Given the description of an element on the screen output the (x, y) to click on. 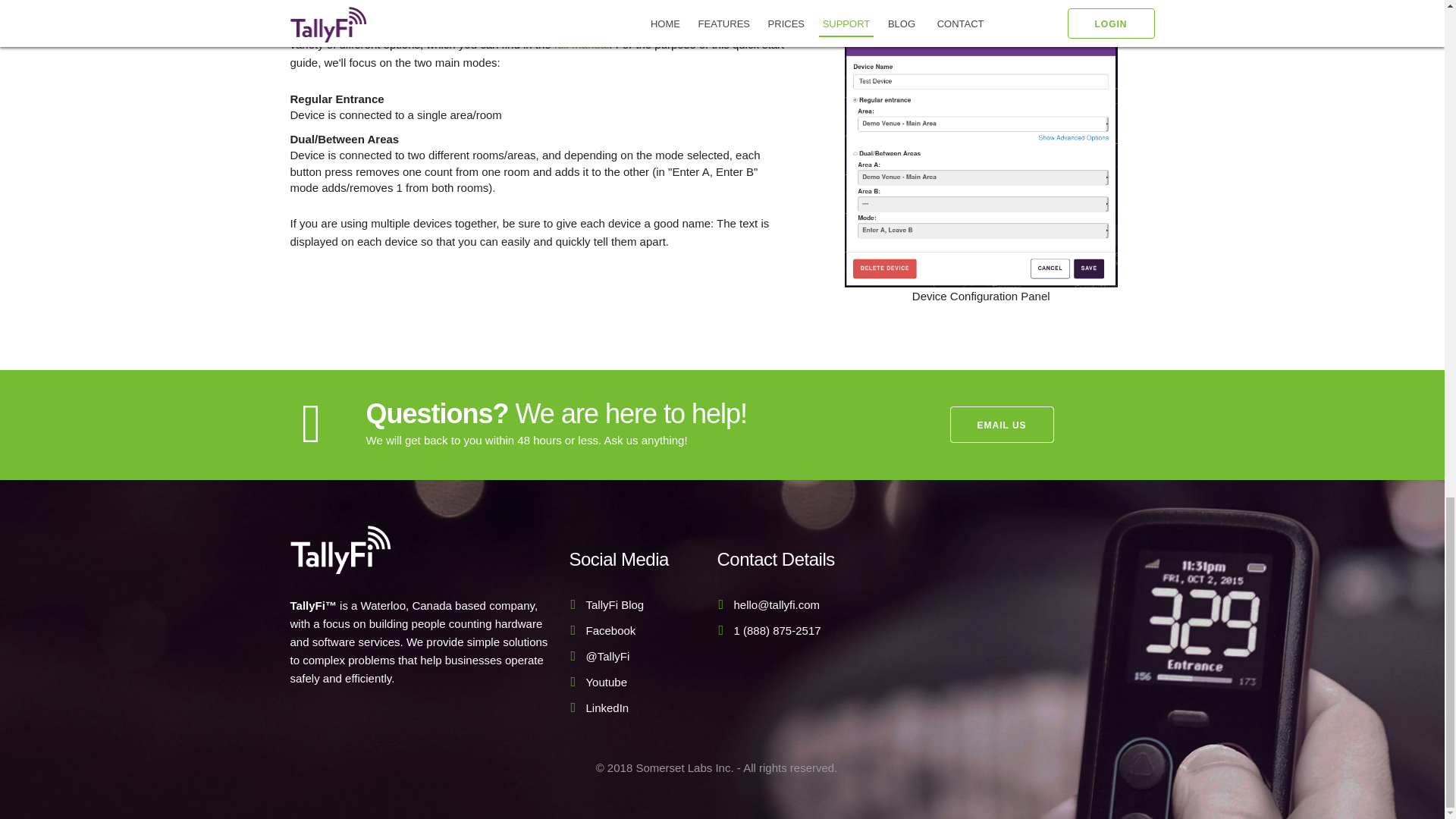
TallyFi Blog (614, 604)
LinkedIn (606, 707)
EMAIL US (1000, 424)
Facebook (609, 630)
full manual (582, 43)
Youtube (606, 681)
